Given the description of an element on the screen output the (x, y) to click on. 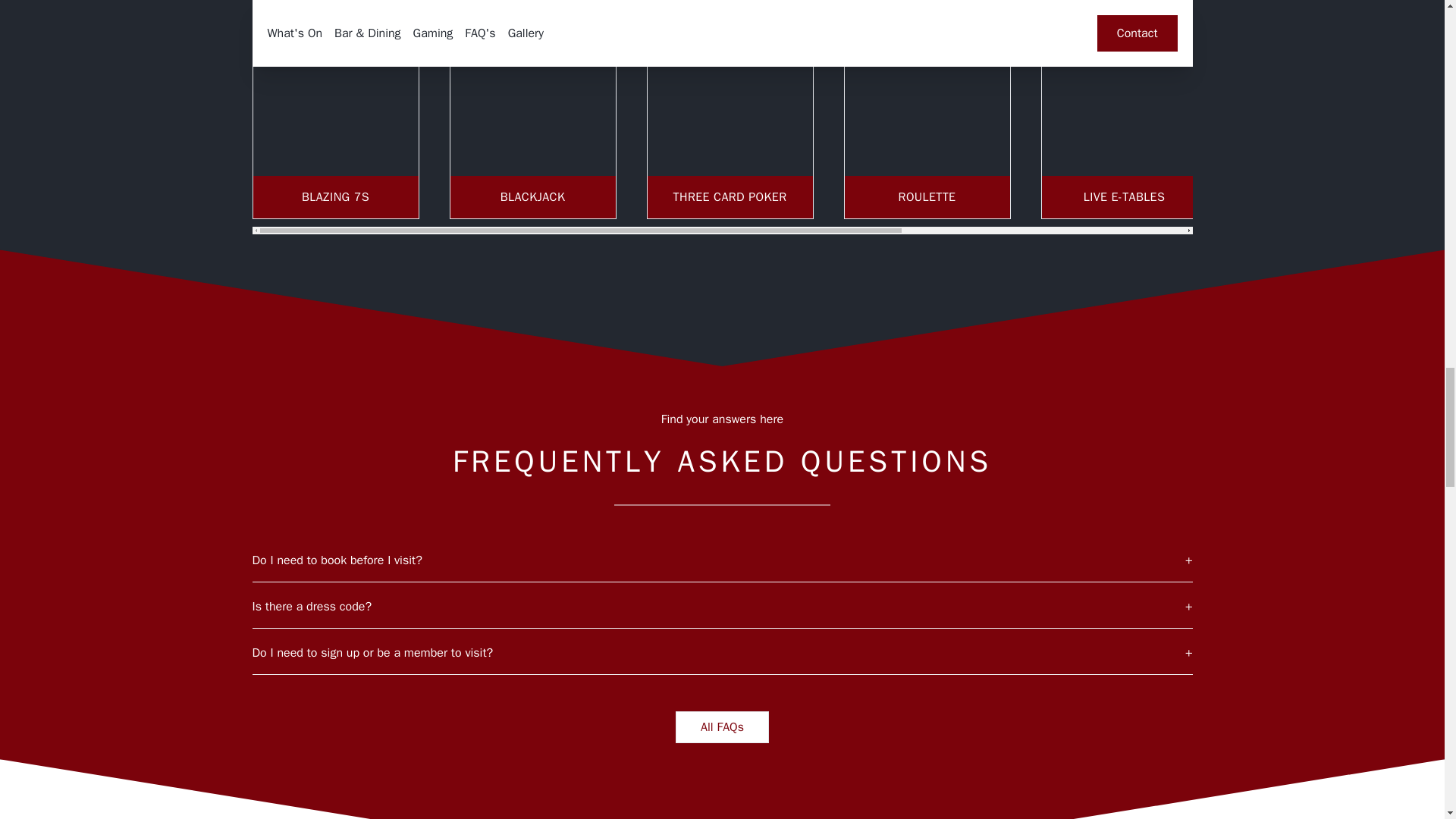
Learn more (927, 109)
Learn more (1124, 109)
Learn more (336, 109)
Learn more (1322, 109)
Learn more (532, 109)
Learn more (729, 109)
